Given the description of an element on the screen output the (x, y) to click on. 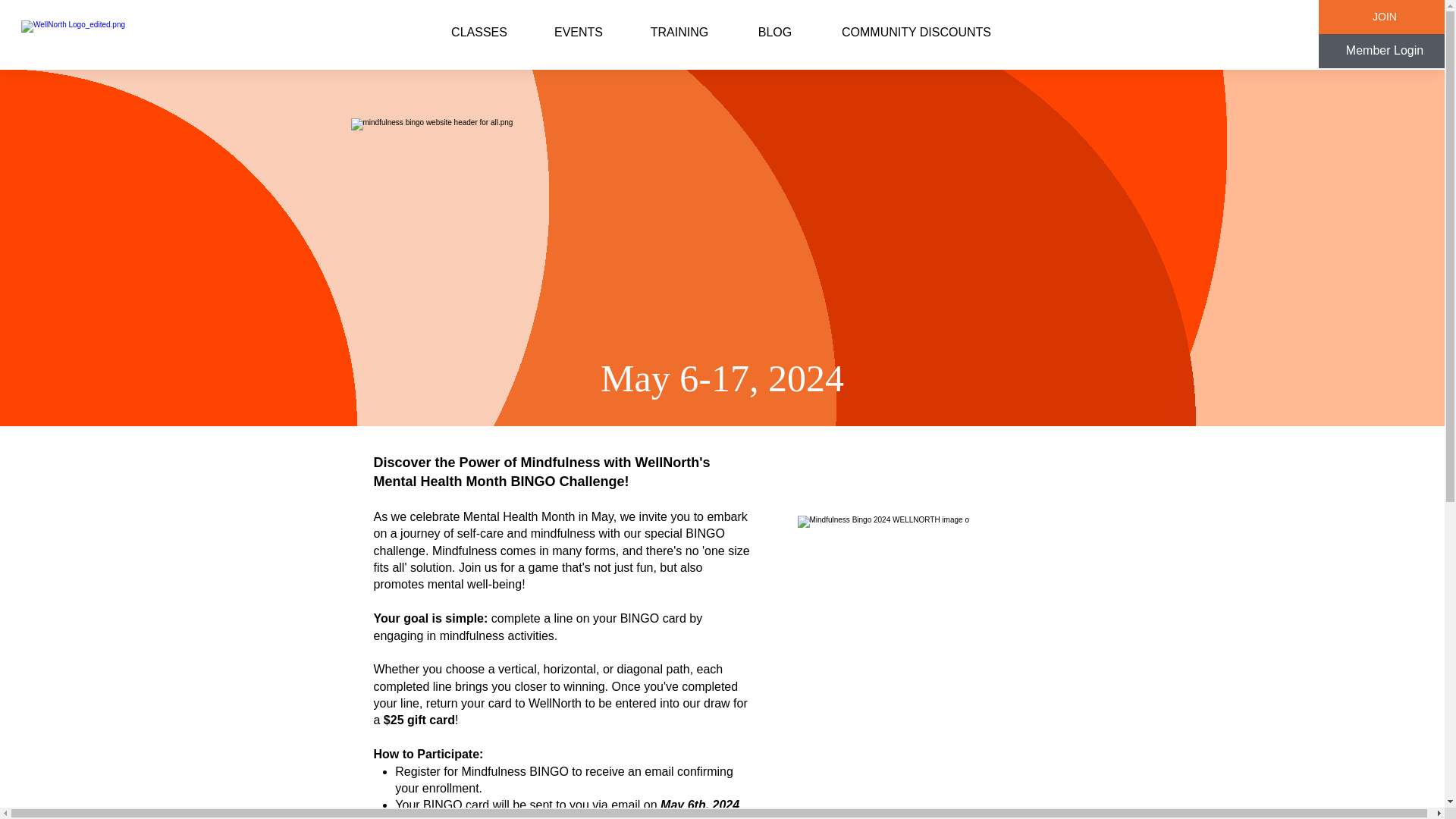
CLASSES (479, 32)
COMMUNITY DISCOUNTS (916, 32)
BLOG (774, 32)
EVENTS (578, 32)
